Given the description of an element on the screen output the (x, y) to click on. 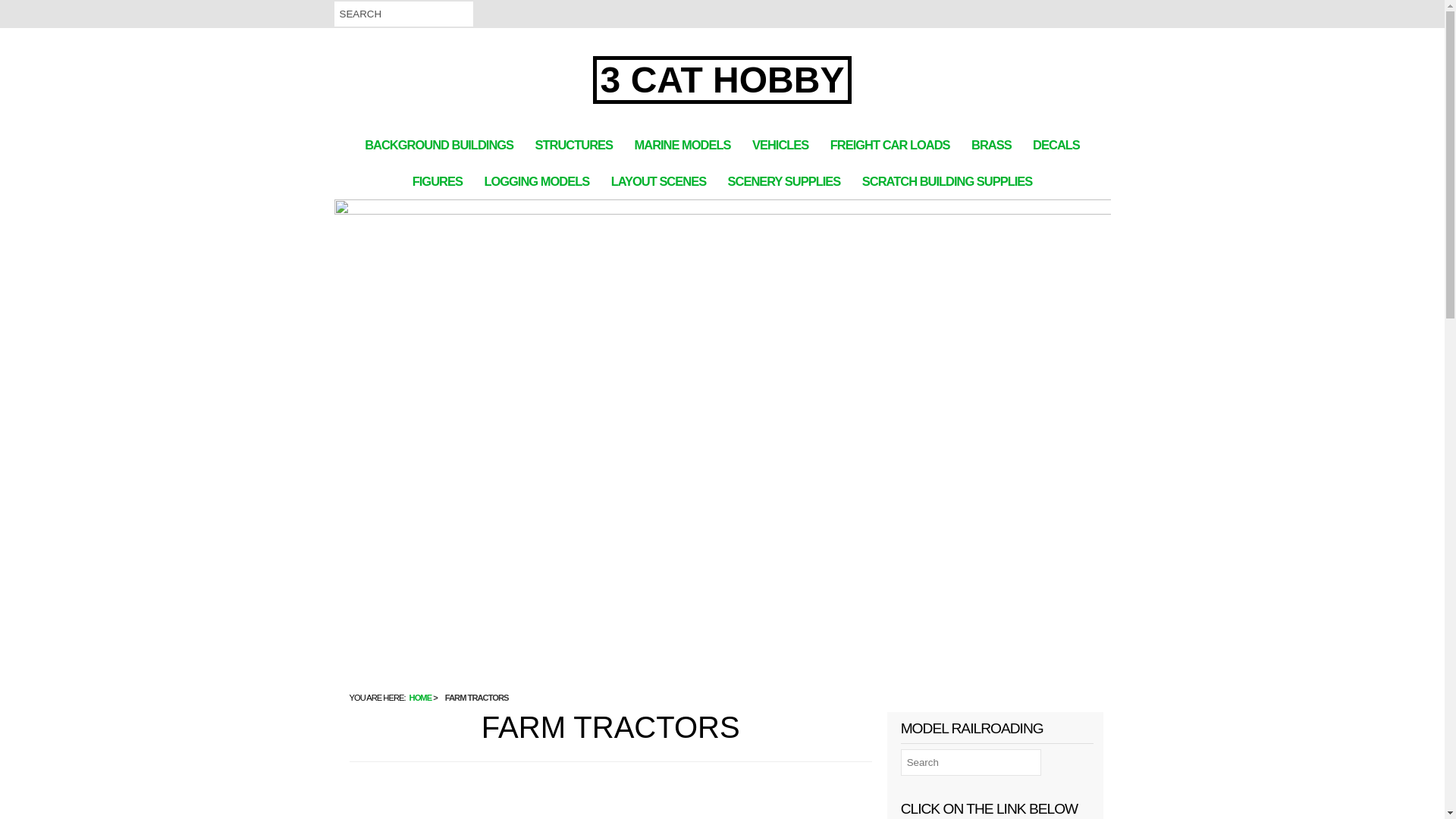
FIGURES Element type: text (437, 181)
FREIGHT CAR LOADS Element type: text (890, 144)
SCENERY SUPPLIES Element type: text (784, 181)
DECALS Element type: text (1055, 144)
BRASS Element type: text (991, 144)
VEHICLES Element type: text (780, 144)
HOME Element type: text (420, 697)
SCRATCH BUILDING SUPPLIES Element type: text (947, 181)
LOGGING MODELS Element type: text (536, 181)
BACKGROUND BUILDINGS Element type: text (438, 144)
3 CAT HOBBY Element type: text (722, 79)
LAYOUT SCENES Element type: text (658, 181)
MARINE MODELS Element type: text (682, 144)
STRUCTURES Element type: text (574, 144)
